Given the description of an element on the screen output the (x, y) to click on. 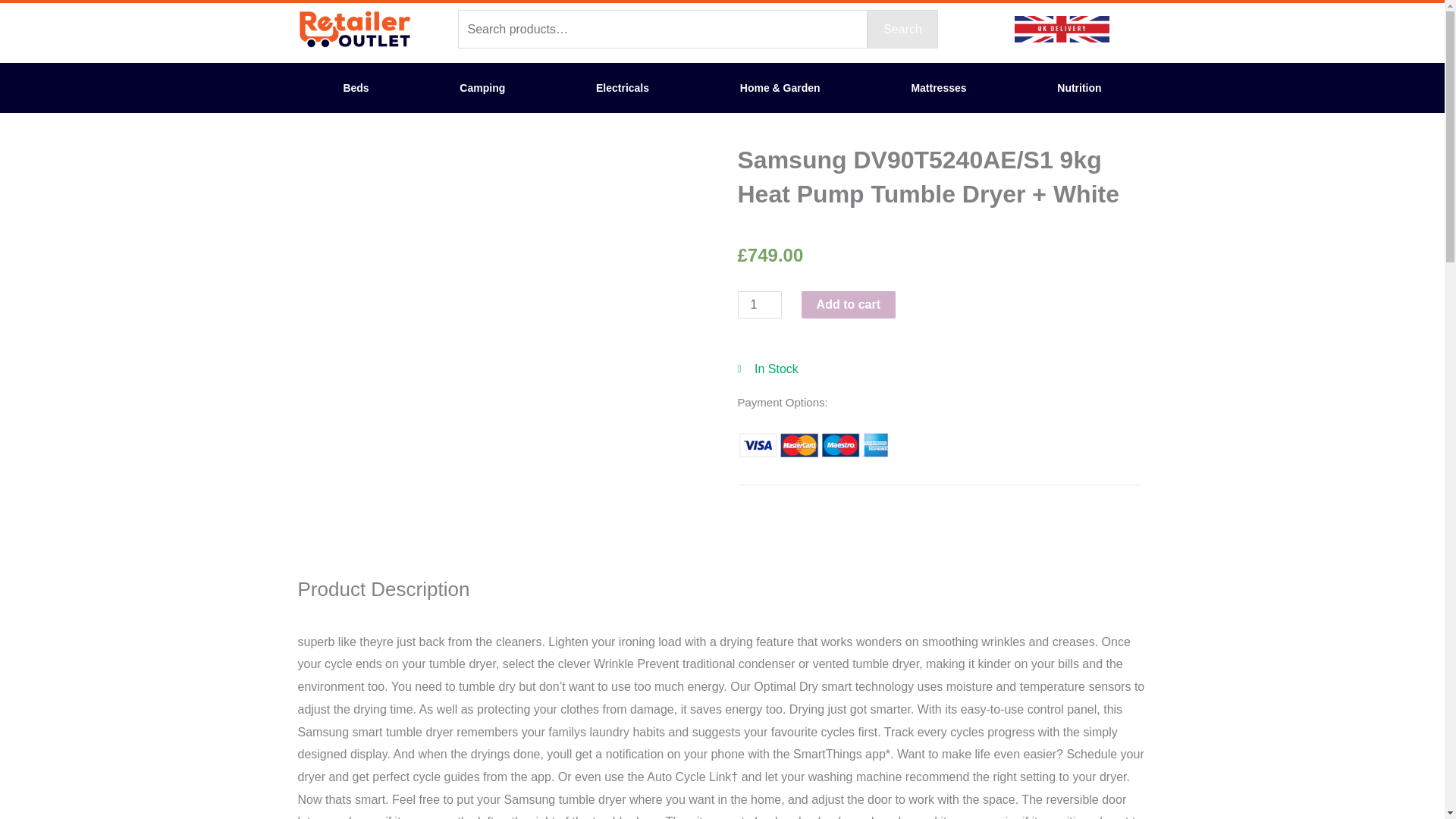
Camping (481, 87)
Mattresses (938, 87)
Accepted Payments (812, 445)
Beds (355, 87)
Nutrition (1079, 87)
Add to cart (848, 304)
1 (758, 304)
Electricals (622, 87)
Search (902, 29)
